Given the description of an element on the screen output the (x, y) to click on. 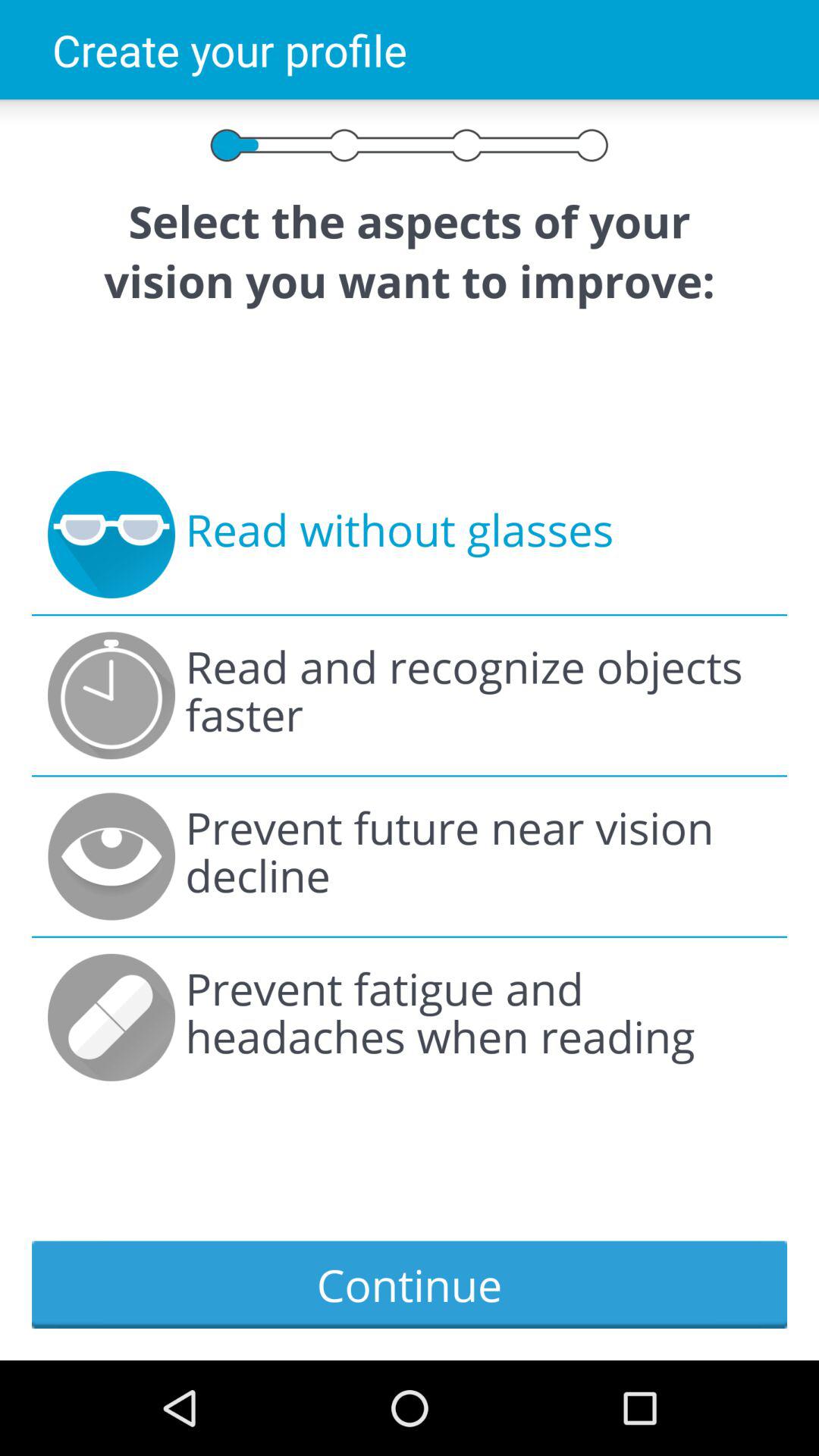
turn off read without glasses (399, 534)
